Given the description of an element on the screen output the (x, y) to click on. 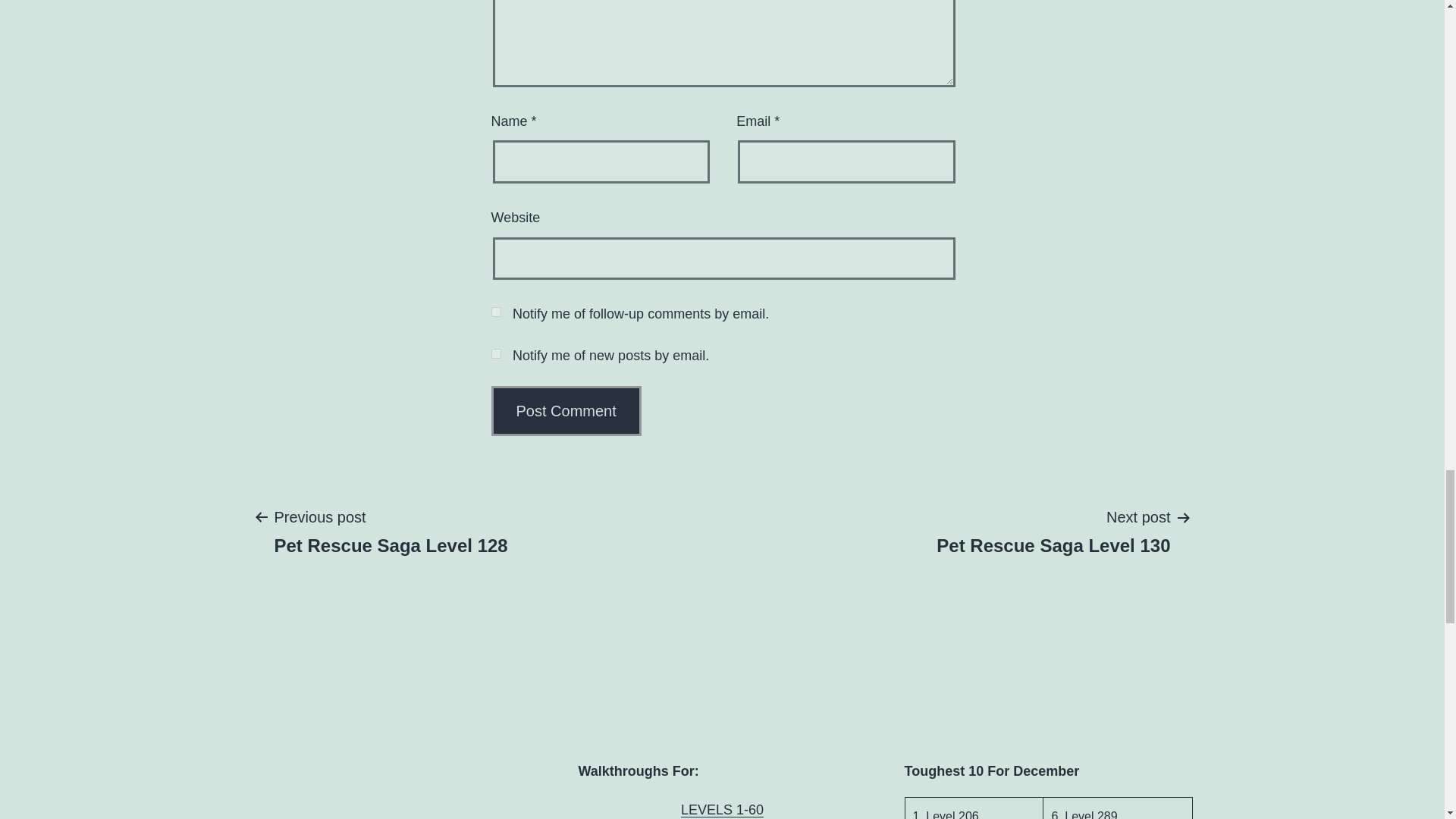
LEVELS 1-60 (721, 809)
Post Comment (567, 410)
Post Comment (567, 410)
